Given the description of an element on the screen output the (x, y) to click on. 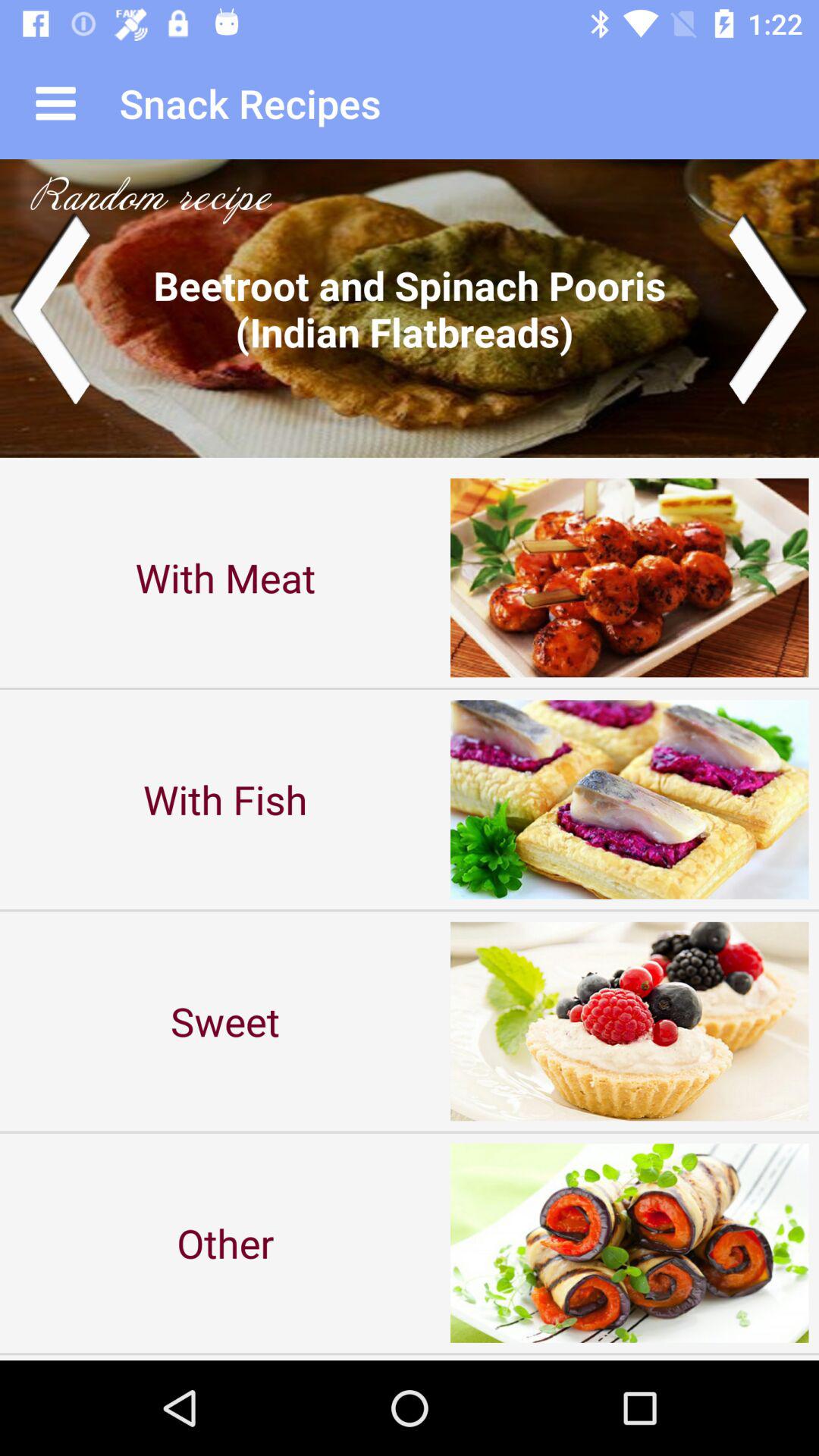
move to next slide (769, 308)
